Given the description of an element on the screen output the (x, y) to click on. 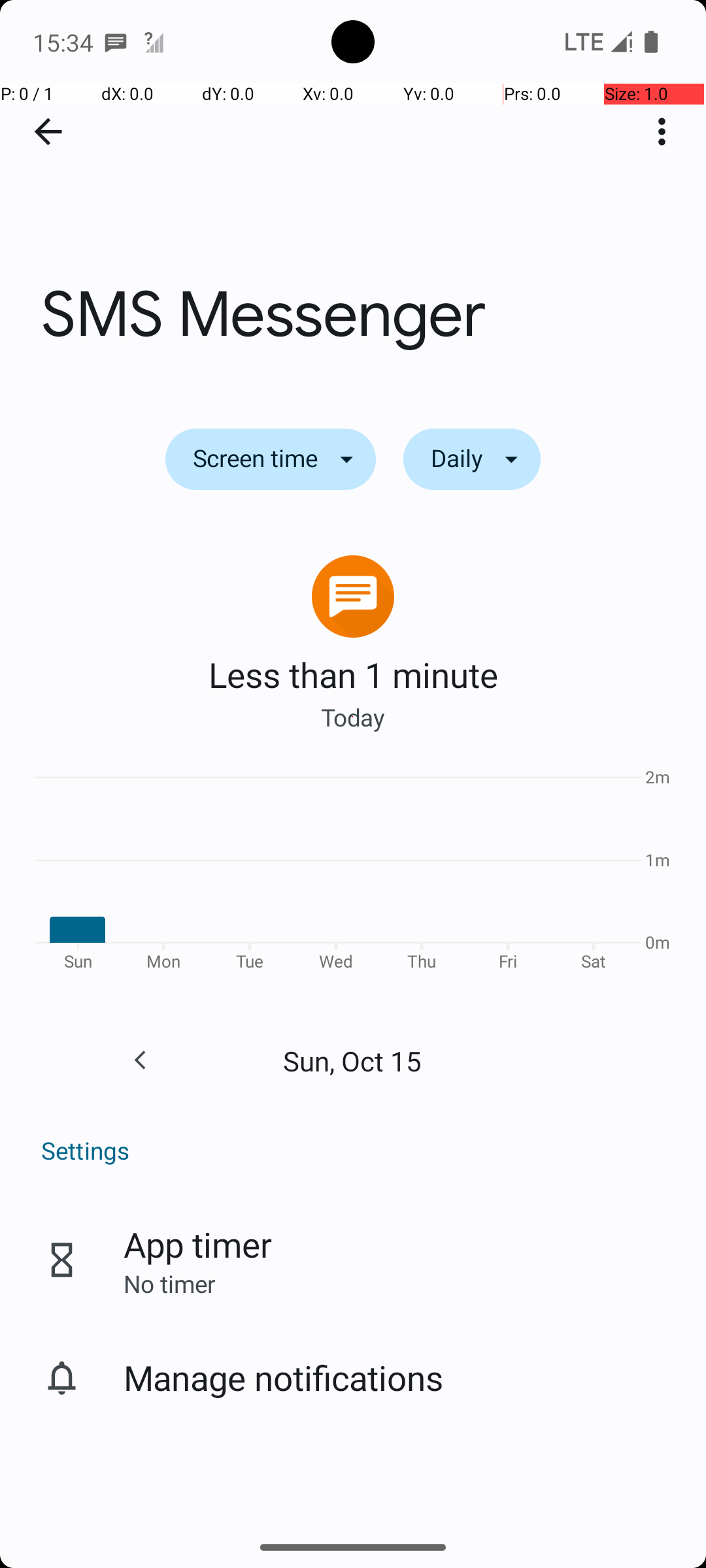
Less than 1 minute Element type: android.widget.TextView (353, 674)
Go to the previous day Element type: android.widget.Button (139, 1060)
App timer Element type: android.widget.TextView (197, 1244)
No timer Element type: android.widget.TextView (169, 1283)
Manage notifications Element type: android.widget.TextView (283, 1377)
